Given the description of an element on the screen output the (x, y) to click on. 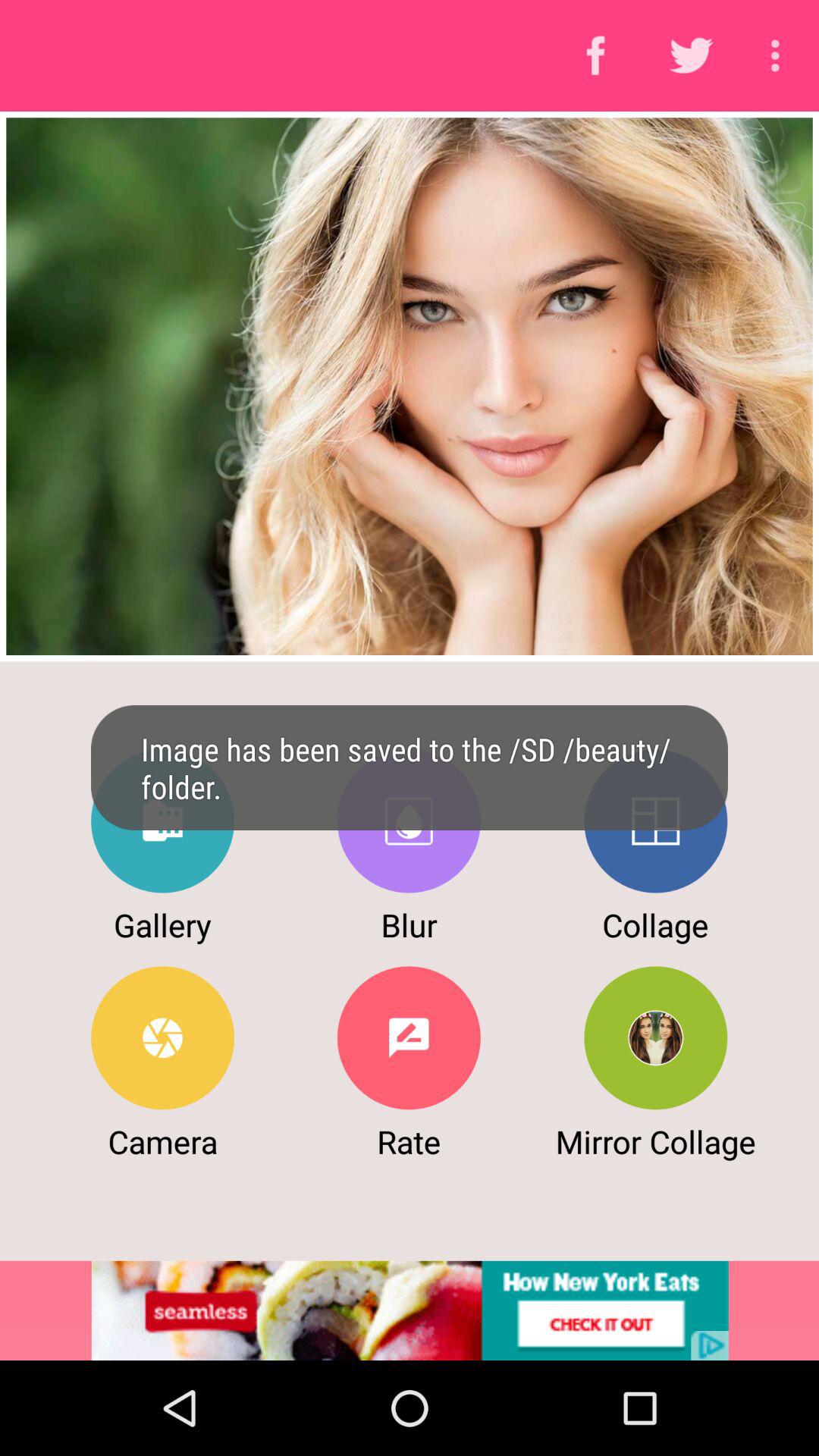
open the folder (162, 820)
